Given the description of an element on the screen output the (x, y) to click on. 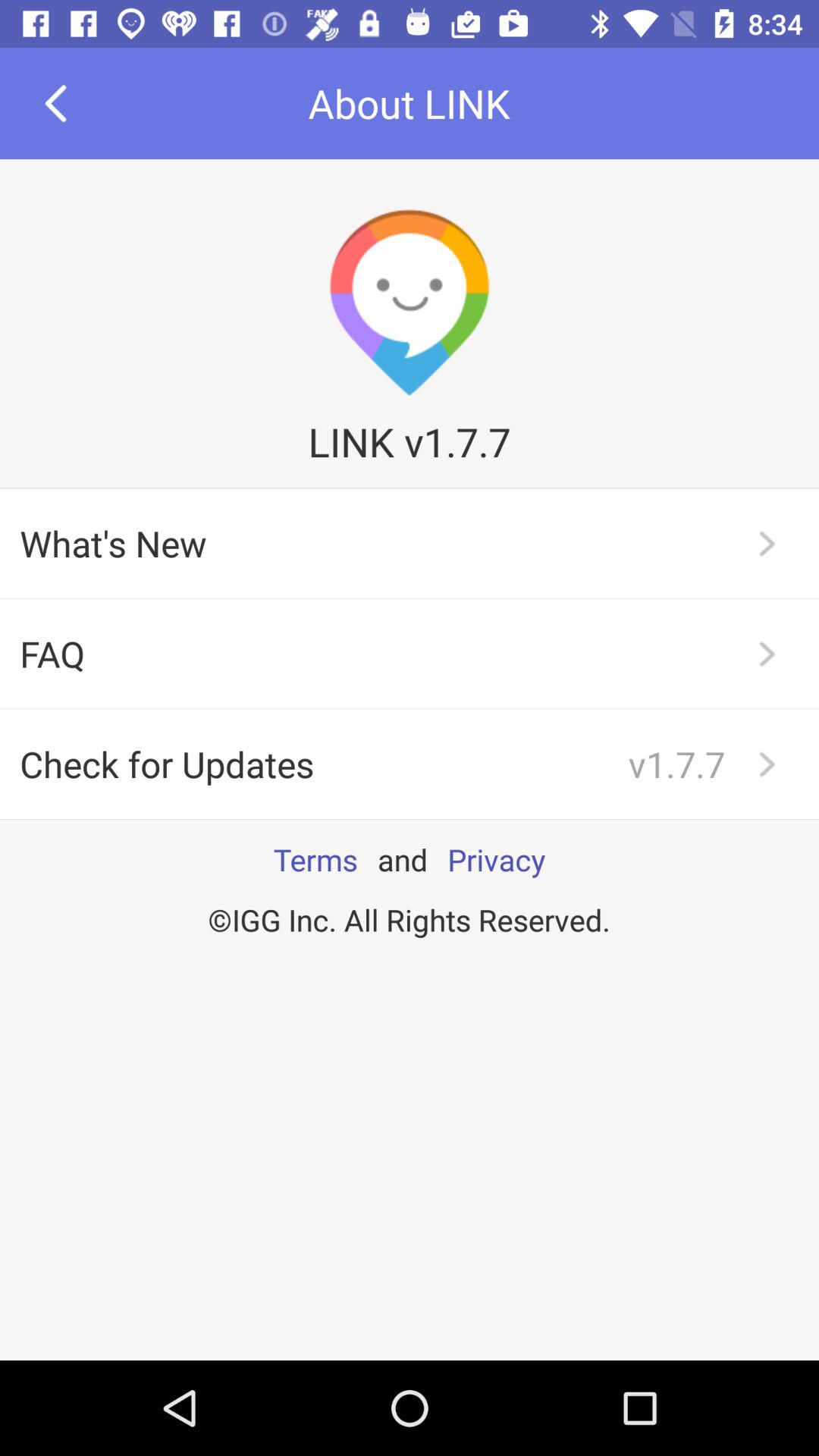
press item above the igg inc all (315, 859)
